Given the description of an element on the screen output the (x, y) to click on. 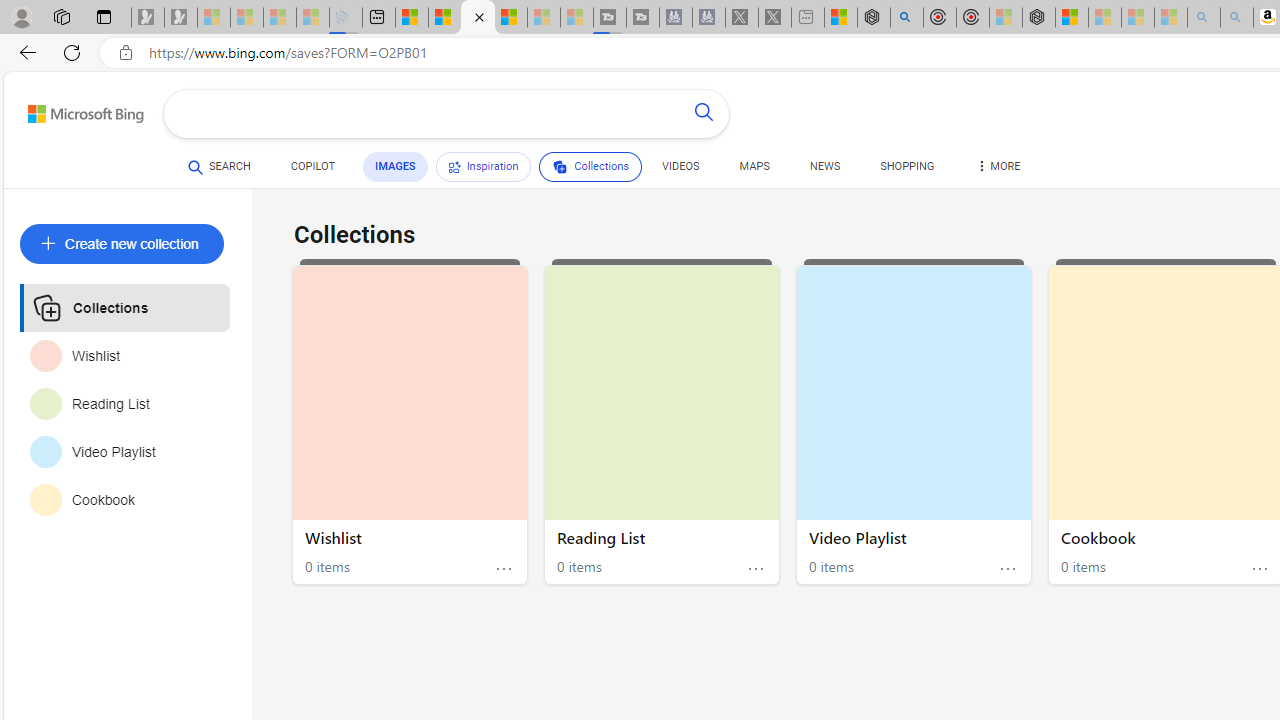
IMAGES (394, 167)
Amazon Echo Dot PNG - Search Images - Sleeping (1237, 17)
COPILOT (311, 166)
MAPS (754, 166)
SEARCH (219, 166)
